Given the description of an element on the screen output the (x, y) to click on. 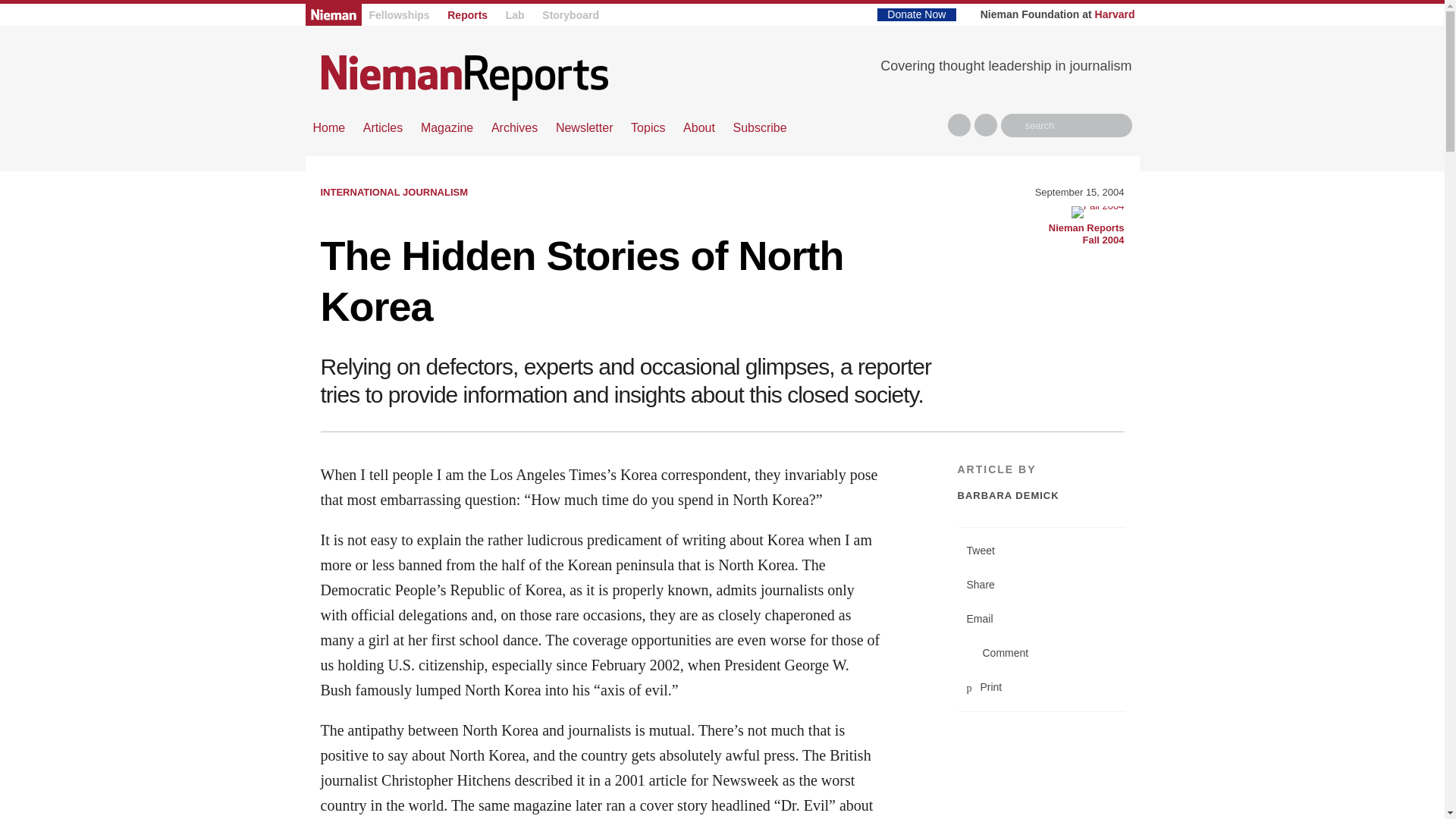
Tweet (1040, 550)
Subscribe (759, 127)
Lab (514, 15)
Topics (647, 127)
Fellowships (398, 15)
T (985, 124)
Print (1040, 687)
Email (1040, 618)
About (1079, 226)
